Given the description of an element on the screen output the (x, y) to click on. 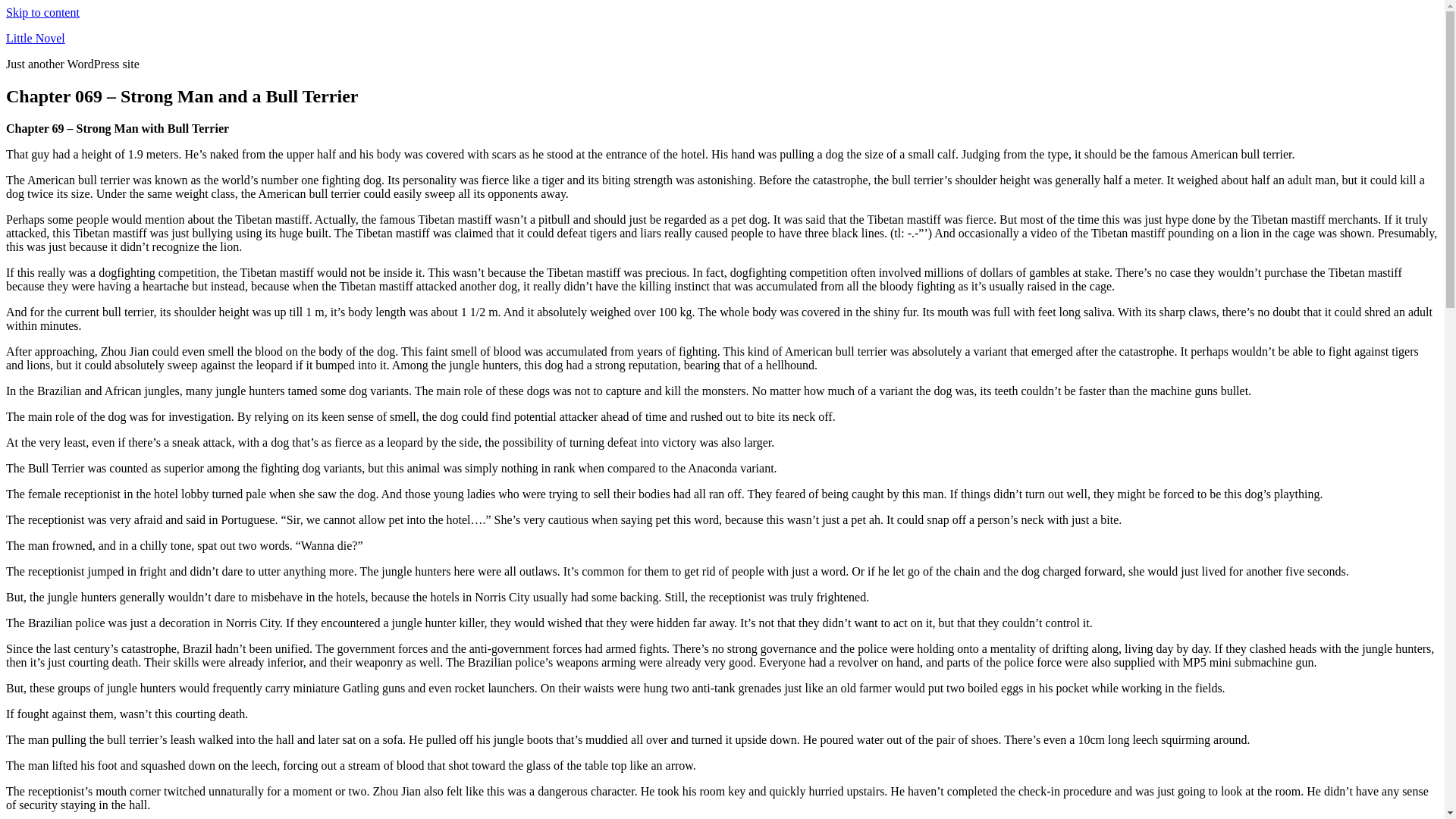
Skip to content (42, 11)
Little Novel (35, 38)
